Given the description of an element on the screen output the (x, y) to click on. 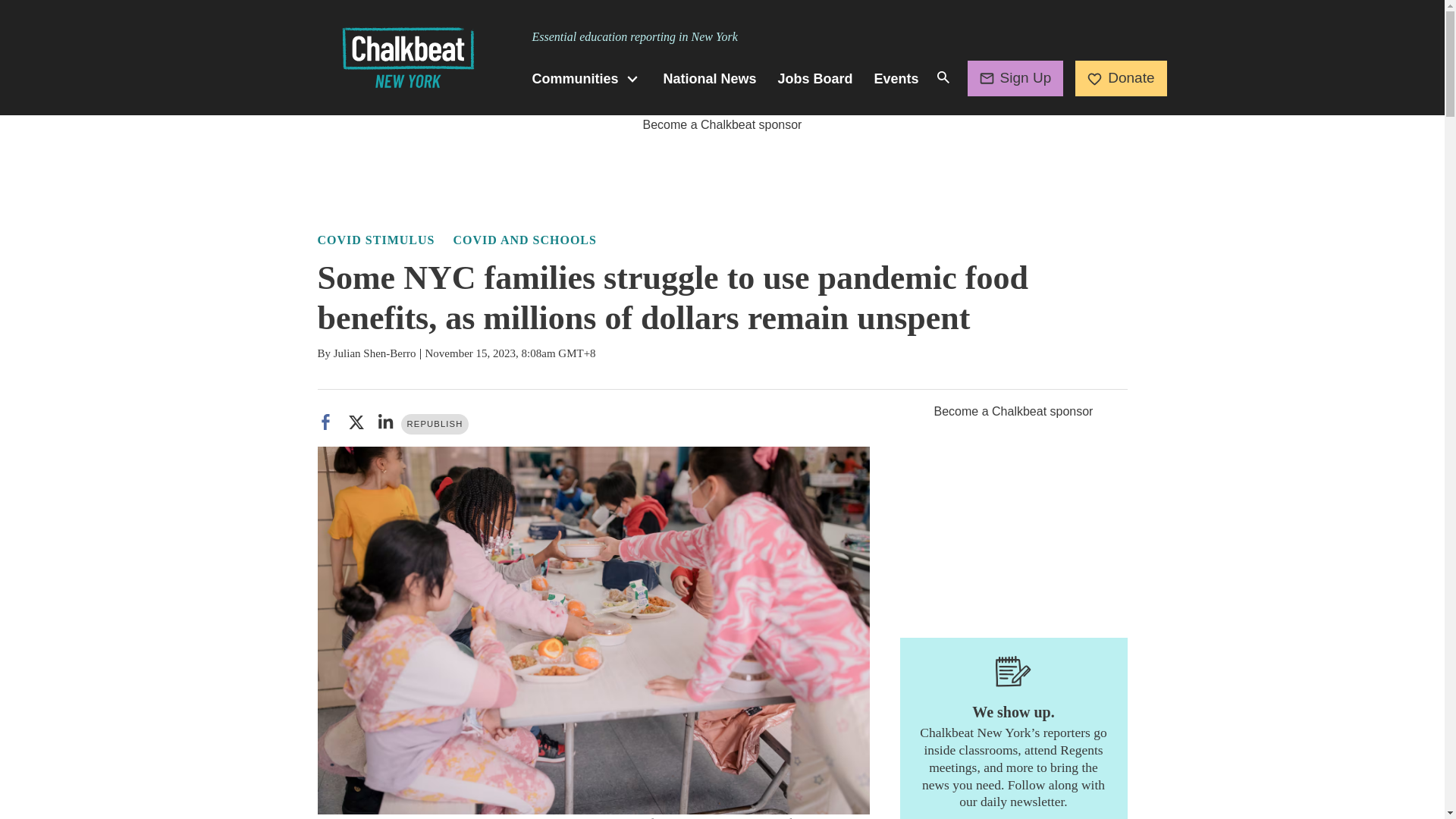
Events (896, 79)
COVID STIMULUS (375, 239)
REPUBLISH (434, 424)
Sign Up (1016, 77)
Jobs Board (815, 79)
3rd party ad content (1012, 515)
3rd party ad content (721, 169)
Julian Shen-Berro (374, 353)
Become a Chalkbeat sponsor (722, 124)
Donate (1120, 77)
COVID AND SCHOOLS (523, 239)
National News (710, 79)
